Given the description of an element on the screen output the (x, y) to click on. 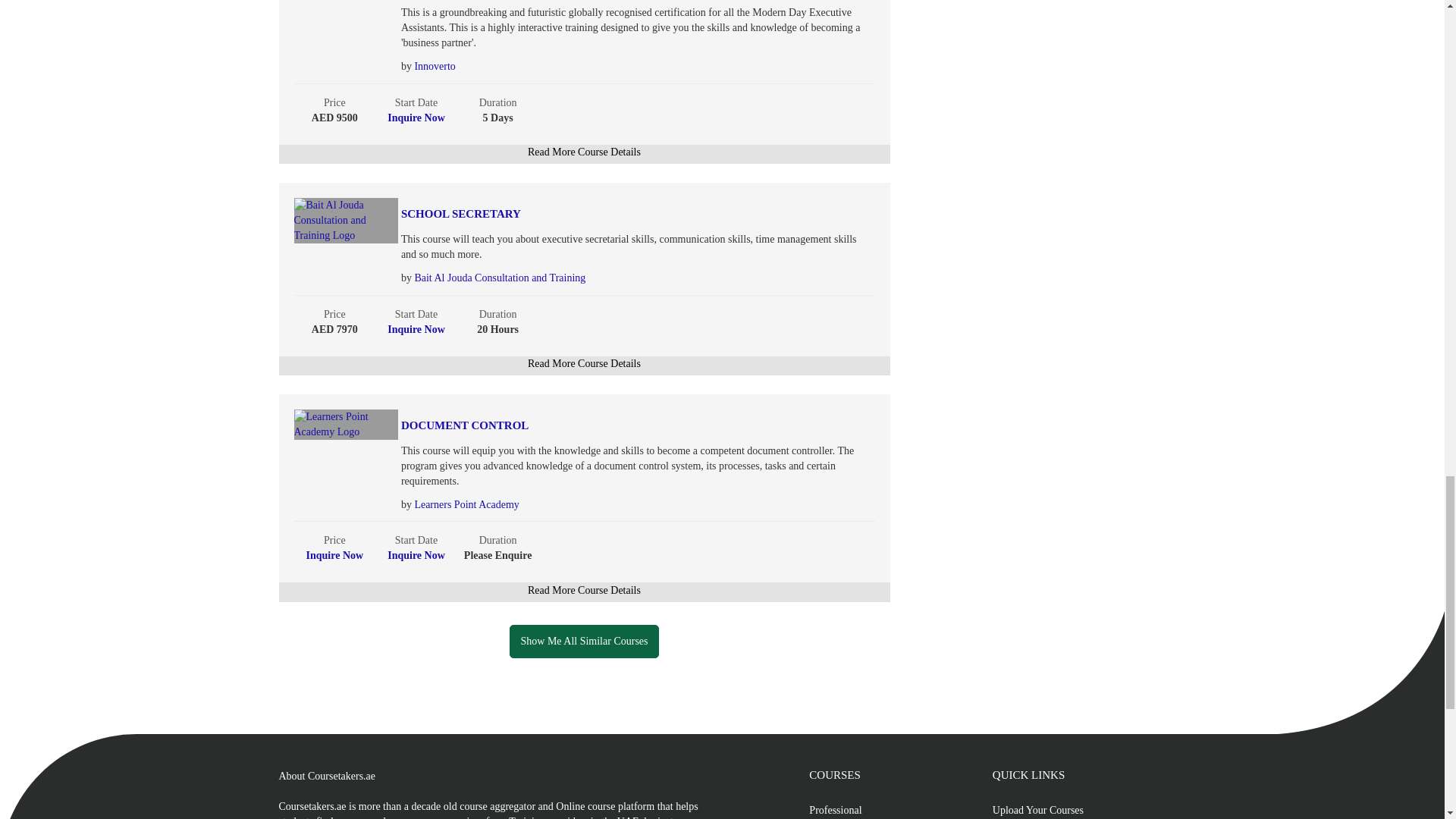
Read More Course Details (583, 152)
Bait Al Jouda Consultation and Training (499, 277)
SCHOOL SECRETARY (602, 214)
Innoverto (433, 66)
Document Control (602, 425)
Inquire Now (416, 117)
School Secretary (602, 214)
